Given the description of an element on the screen output the (x, y) to click on. 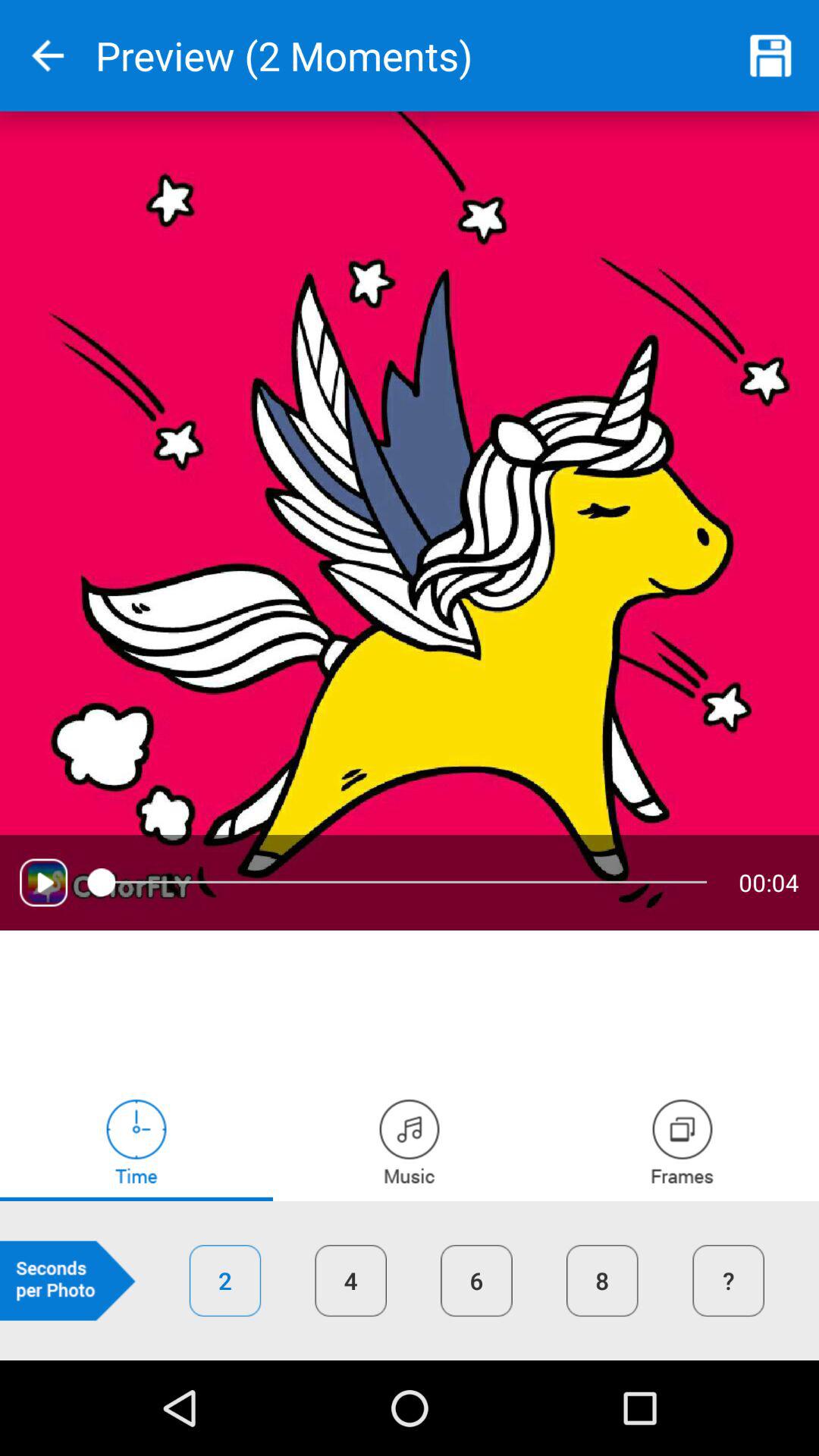
frames tab (682, 1141)
